Given the description of an element on the screen output the (x, y) to click on. 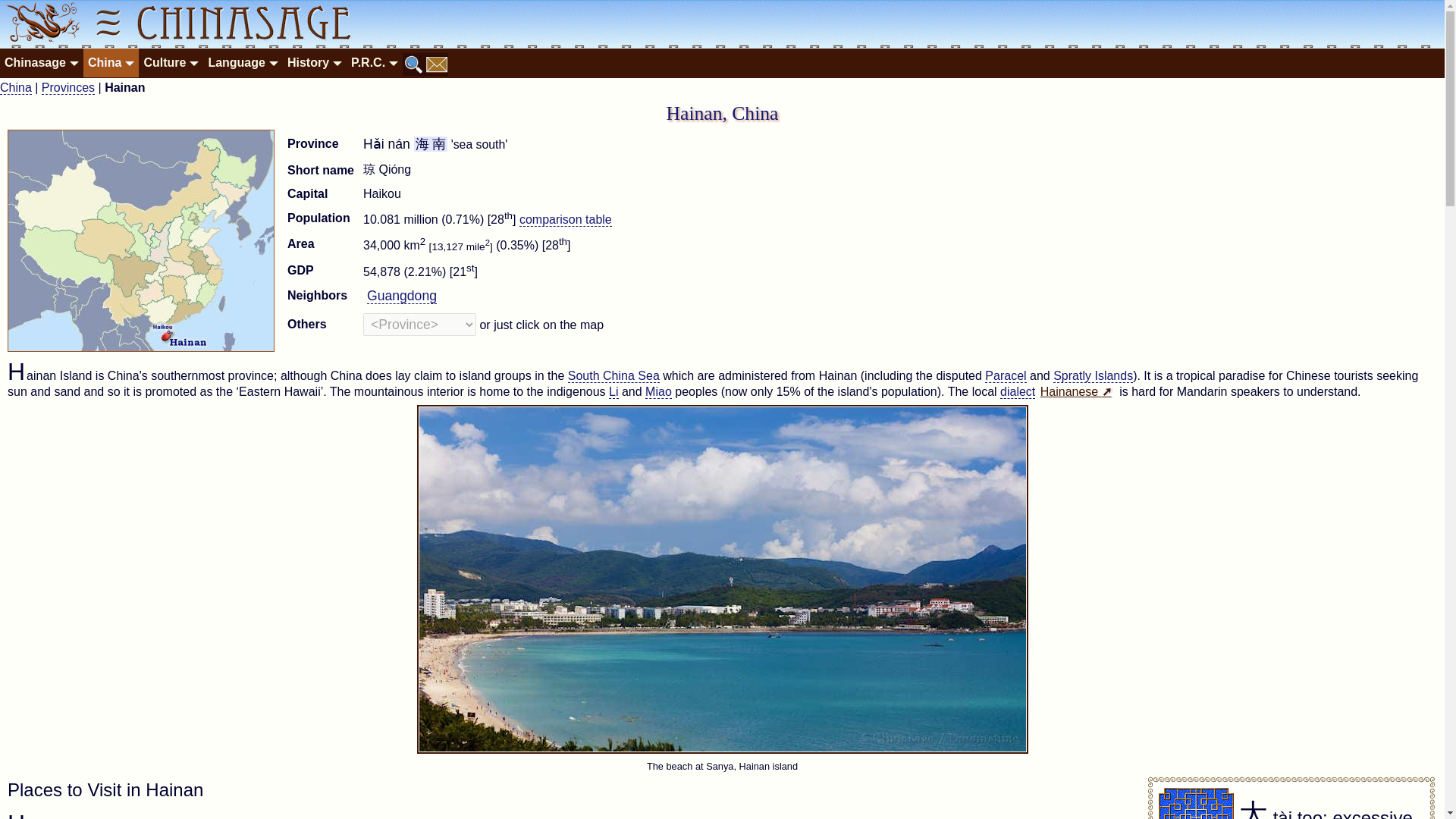
China (110, 62)
Chinasage home page (40, 24)
Chinasage (41, 62)
